Given the description of an element on the screen output the (x, y) to click on. 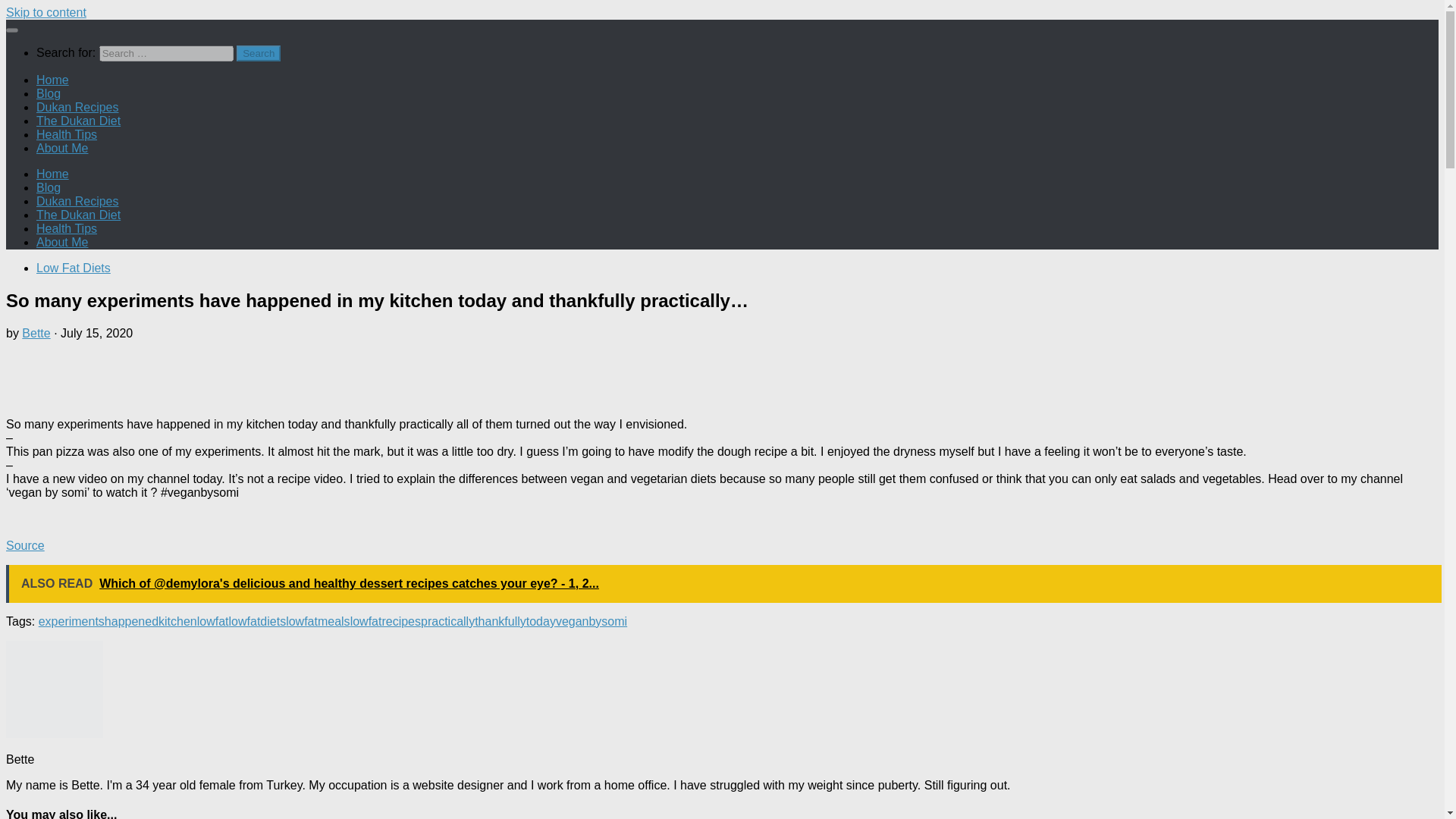
Dukan Recipes (77, 201)
Search (258, 53)
Blog (48, 187)
lowfat (212, 621)
thankfully (499, 621)
Source (25, 545)
Health Tips (66, 228)
The Dukan Diet (78, 214)
today (540, 621)
Home (52, 79)
lowfatdiets (257, 621)
Search (258, 53)
About Me (61, 241)
About Me (61, 147)
happened (131, 621)
